Given the description of an element on the screen output the (x, y) to click on. 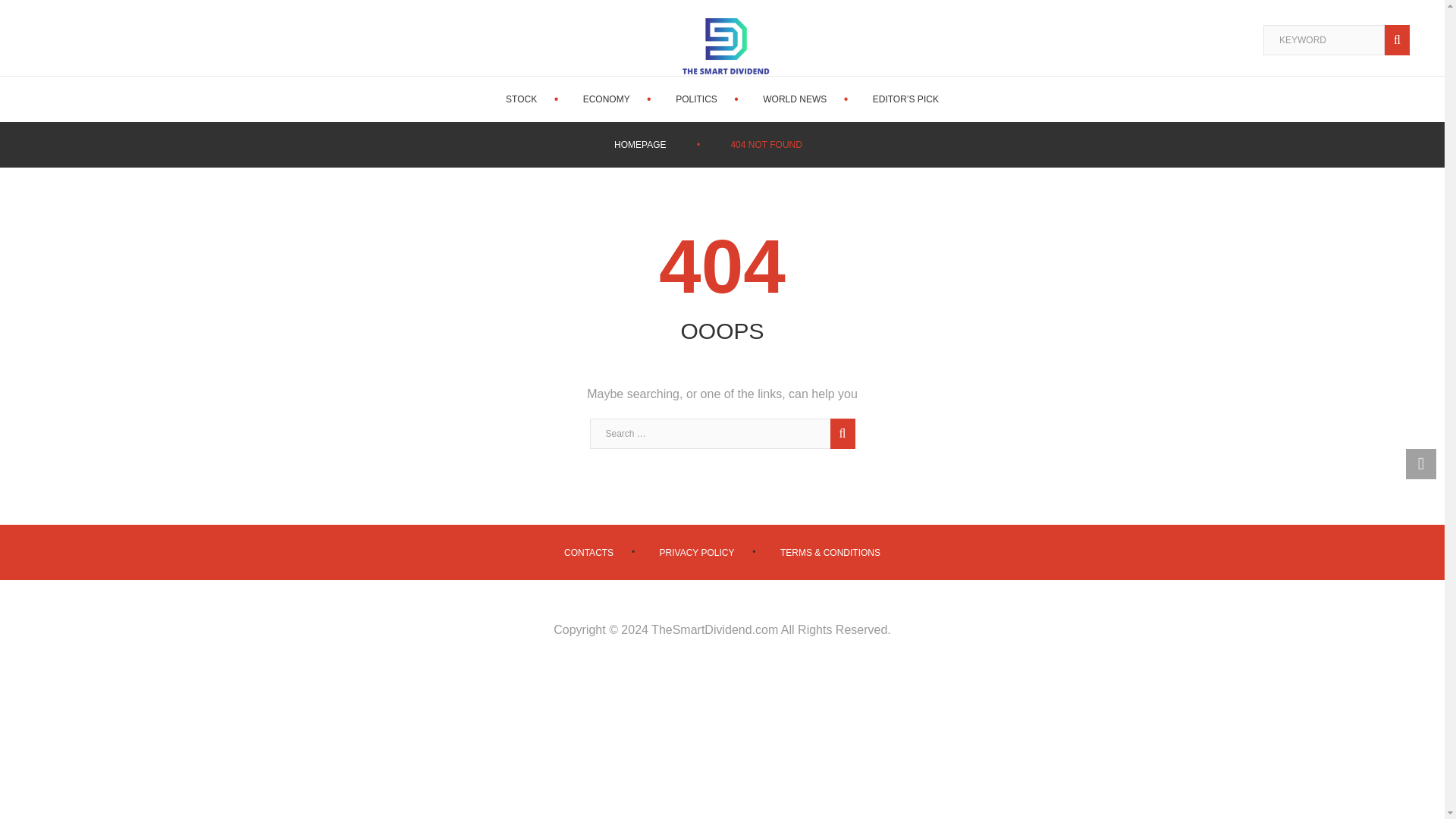
Politics (696, 98)
STOCK (521, 98)
World News (794, 98)
Stock (521, 98)
Search (840, 433)
HOMEPAGE (639, 144)
Economy (606, 98)
Search (840, 433)
Search (1399, 40)
CONTACTS (588, 552)
WORLD NEWS (794, 98)
Editor's Pick (905, 98)
PRIVACY POLICY (697, 552)
Search (840, 433)
Search (1399, 40)
